Given the description of an element on the screen output the (x, y) to click on. 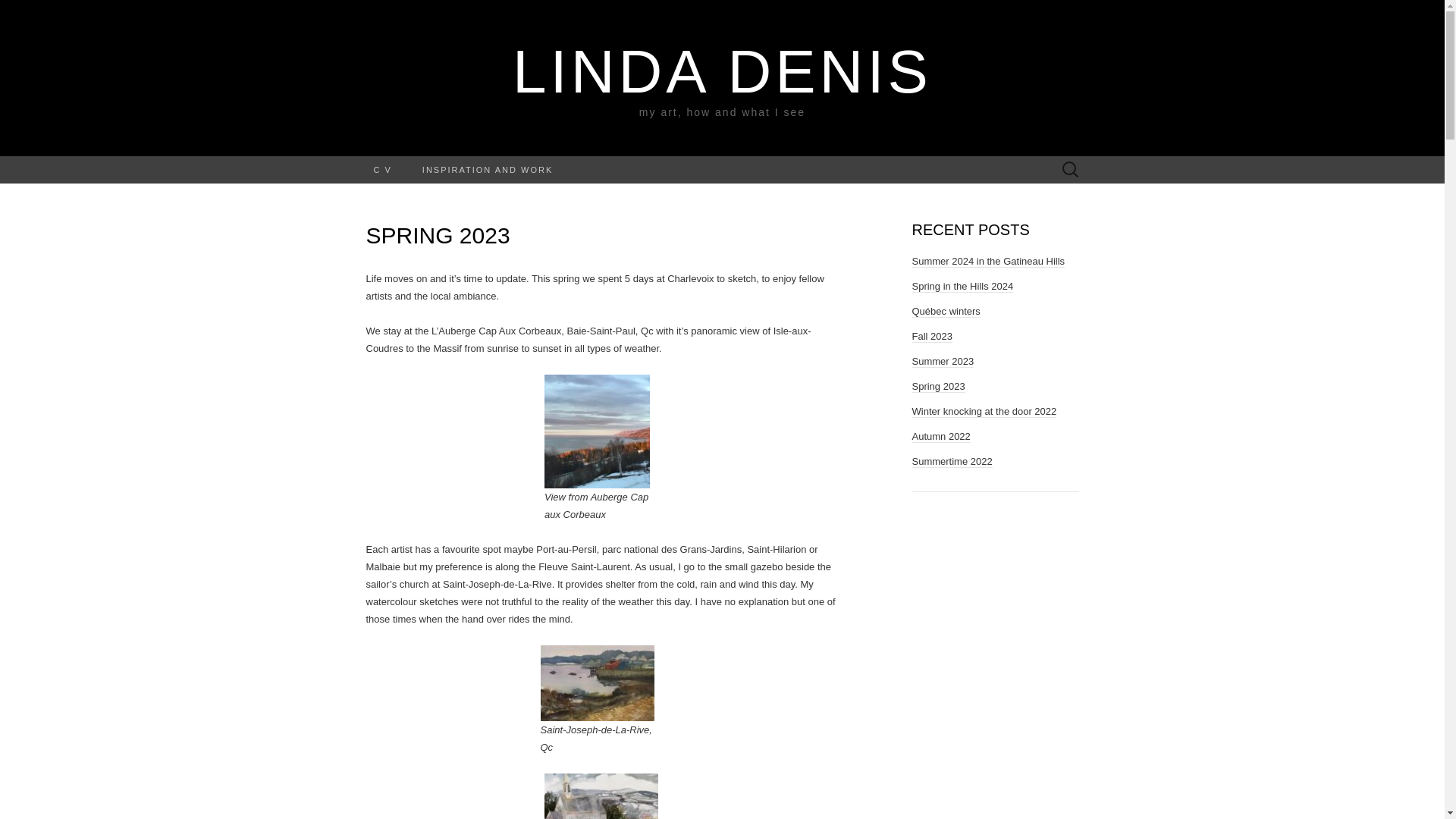
LINDA DENIS (721, 71)
INSPIRATION AND WORK (487, 169)
C V (382, 169)
SPRING 2023 (437, 235)
Linda Denis (721, 71)
Search (16, 12)
